Given the description of an element on the screen output the (x, y) to click on. 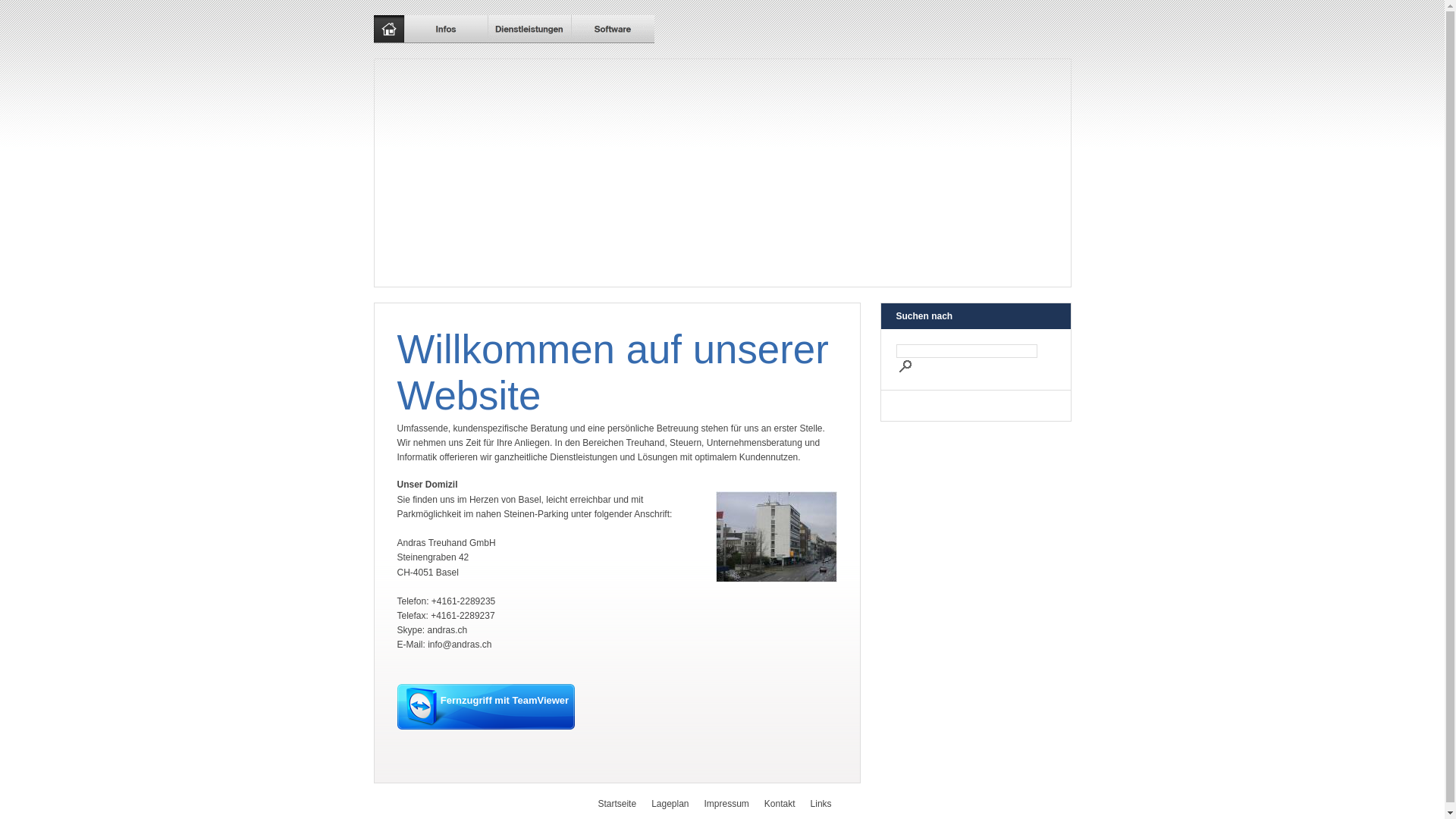
Remote Support mit TeamViewer Element type: hover (485, 706)
Fernzugriff mit TeamViewer Element type: text (485, 726)
Kontakt Element type: text (787, 803)
Lageplan Element type: text (677, 803)
Startseite Element type: text (624, 803)
Links Element type: text (828, 803)
Impressum Element type: text (734, 803)
